Given the description of an element on the screen output the (x, y) to click on. 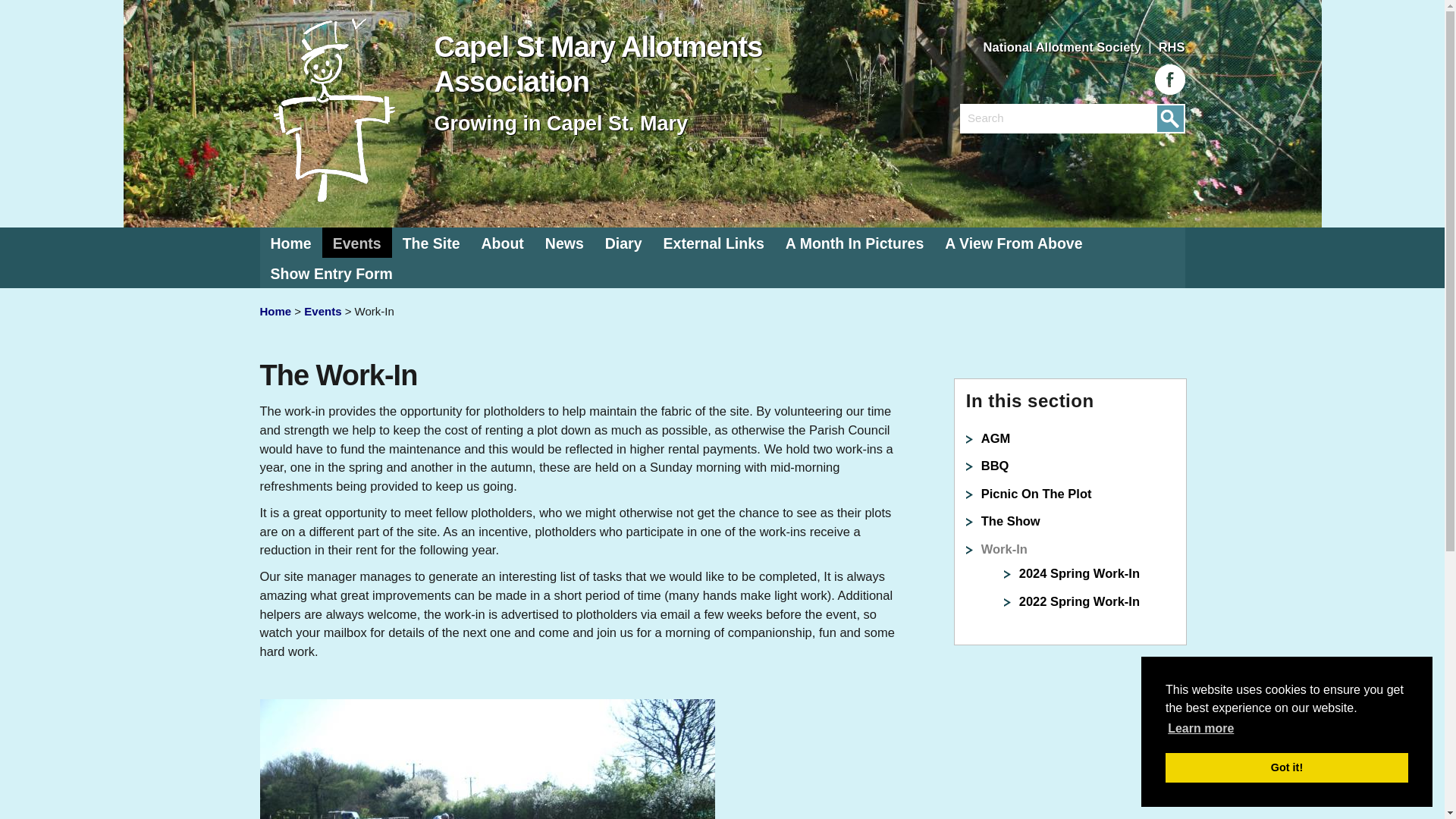
Diary (623, 242)
News (1064, 47)
Events (564, 242)
National Allotment Society (356, 242)
RHS (1064, 47)
Home (1171, 47)
Association Calendar (290, 242)
 RHS (623, 242)
External Links (1171, 47)
